Given the description of an element on the screen output the (x, y) to click on. 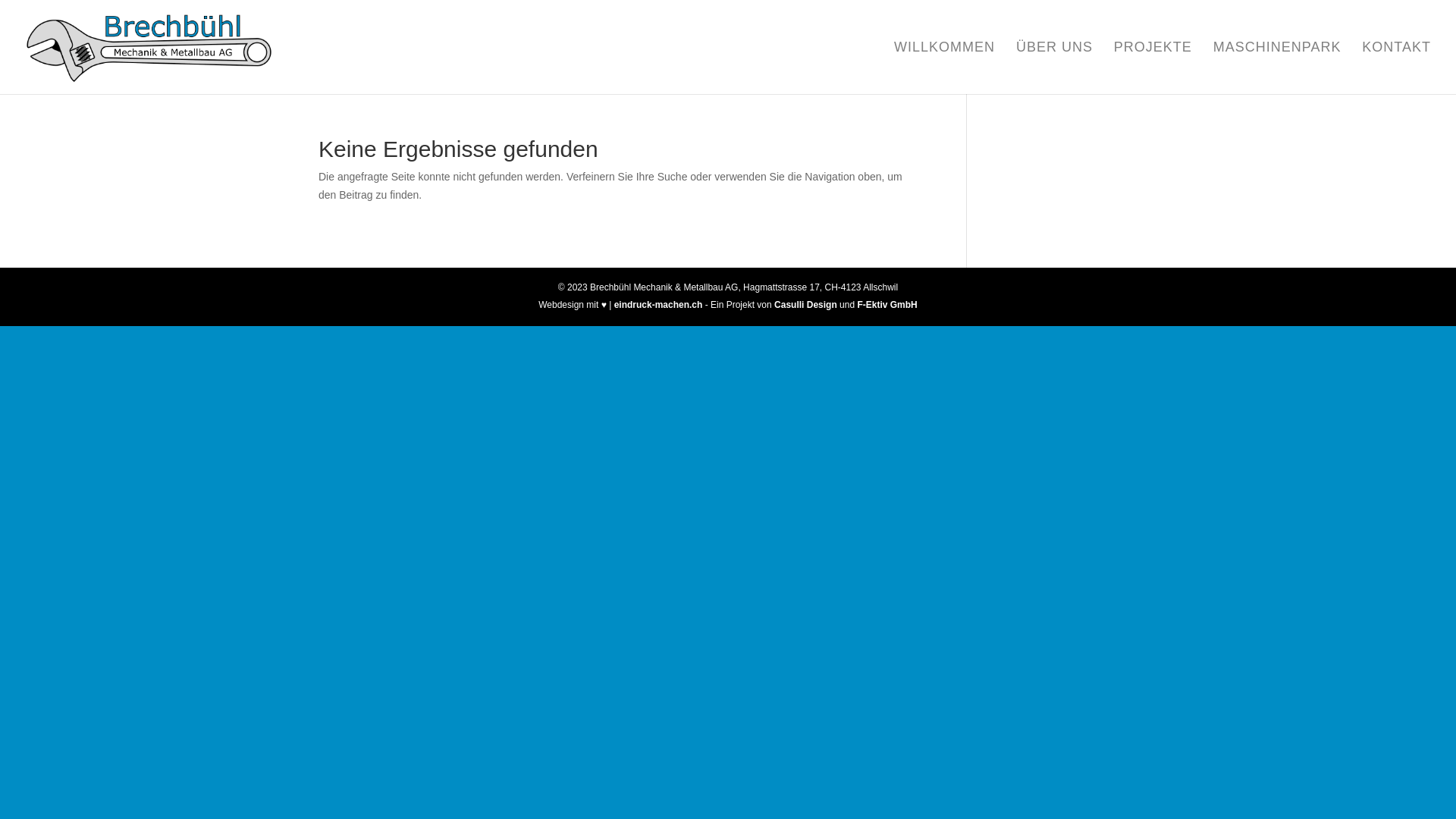
F-Ektiv GmbH Element type: text (886, 304)
Casulli Design Element type: text (805, 304)
MASCHINENPARK Element type: text (1277, 67)
KONTAKT Element type: text (1396, 67)
eindruck-machen.ch Element type: text (658, 304)
PROJEKTE Element type: text (1152, 67)
WILLKOMMEN Element type: text (944, 67)
